Given the description of an element on the screen output the (x, y) to click on. 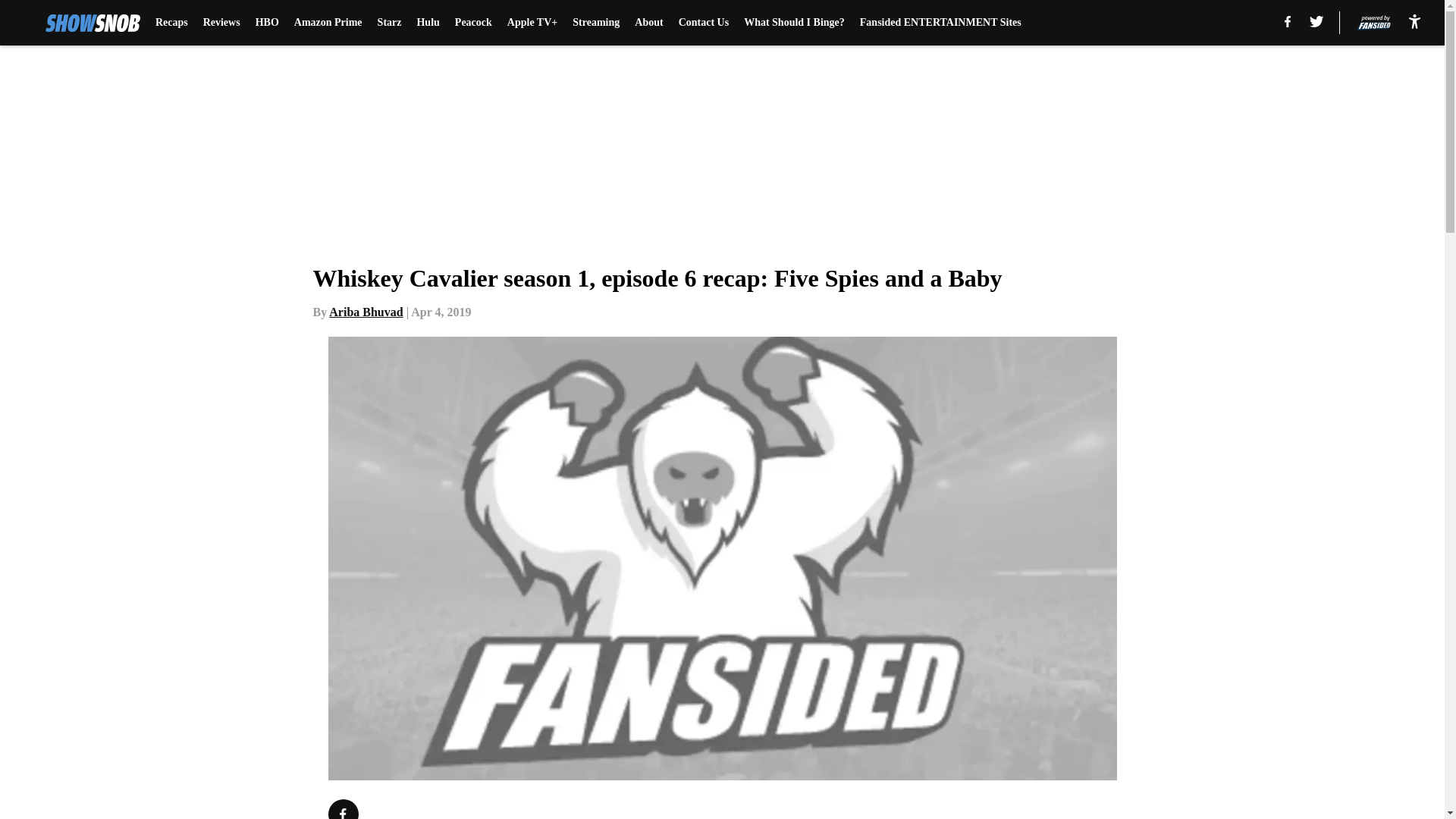
Hulu (427, 22)
Reviews (221, 22)
Streaming (596, 22)
Peacock (473, 22)
About (648, 22)
HBO (267, 22)
Starz (389, 22)
Amazon Prime (328, 22)
What Should I Binge? (794, 22)
Recaps (171, 22)
Fansided ENTERTAINMENT Sites (941, 22)
Contact Us (703, 22)
Ariba Bhuvad (366, 311)
